Given the description of an element on the screen output the (x, y) to click on. 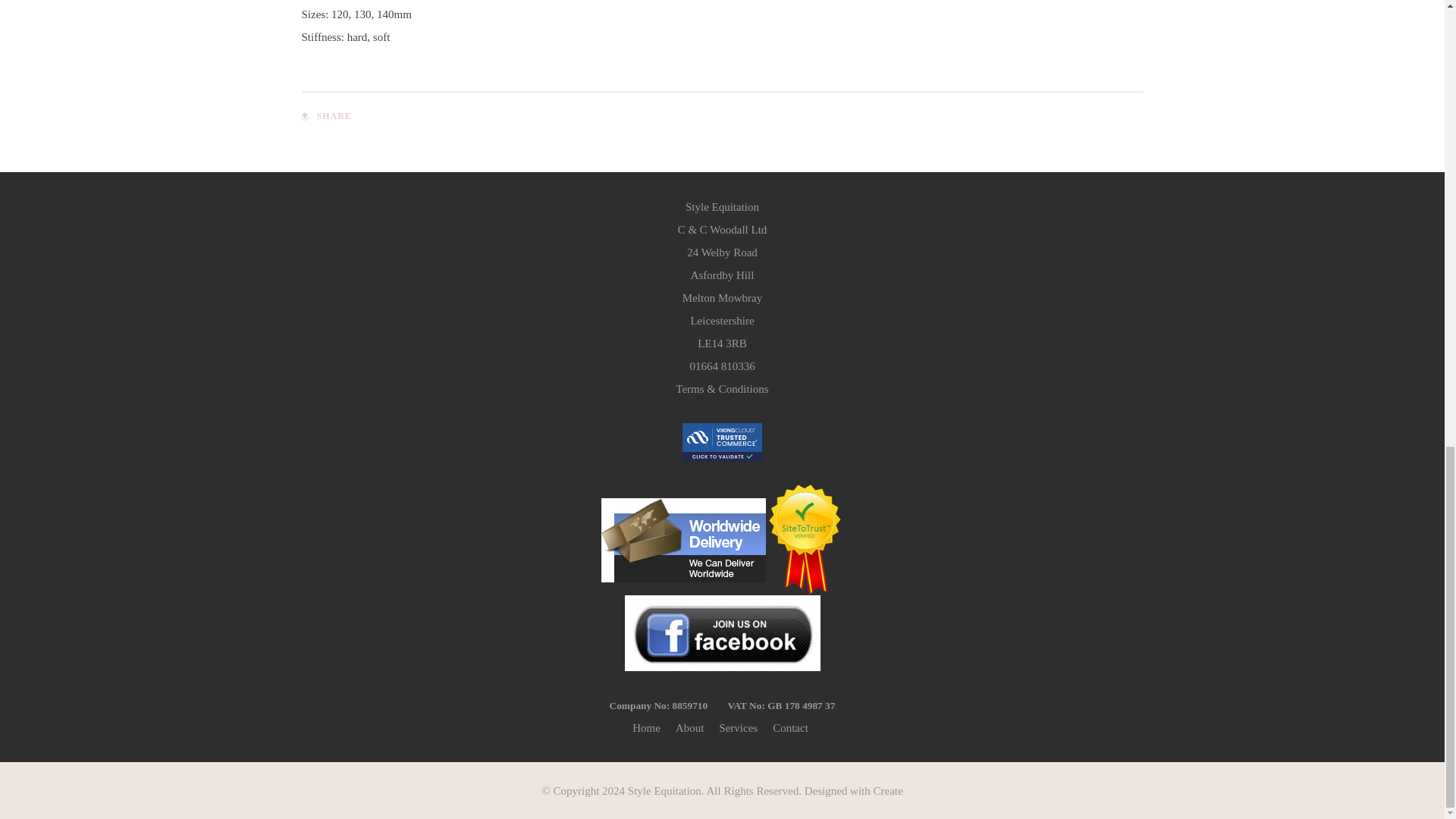
SHARE (326, 115)
Face book logo (722, 632)
worldwide-delivery (683, 539)
